Given the description of an element on the screen output the (x, y) to click on. 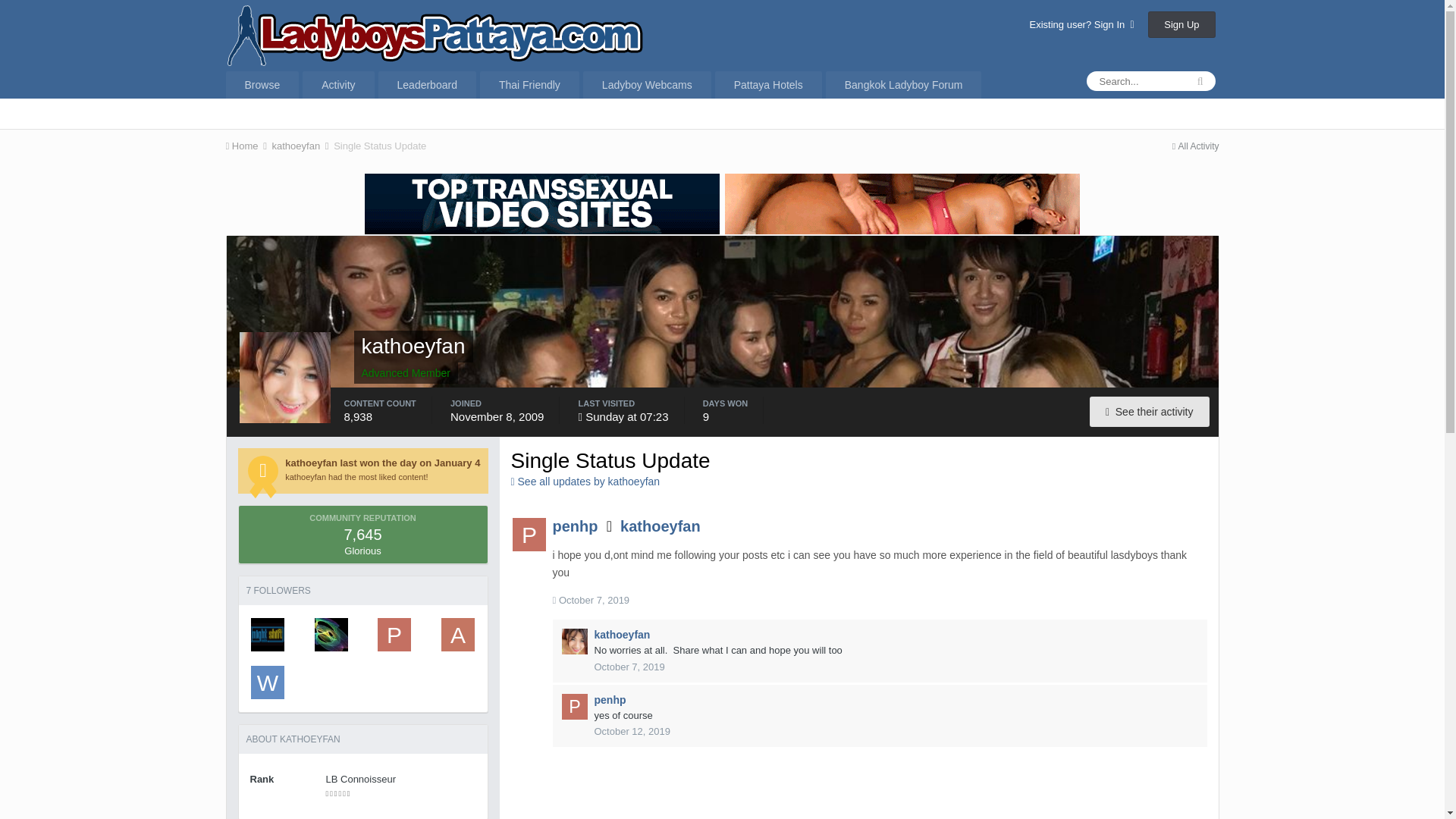
Home (247, 145)
Pattaya Hotels (768, 84)
Go to penhp's profile (393, 634)
Thai Friendly (529, 84)
Existing user? Sign In   (1081, 24)
Home (247, 145)
kathoeyfan's Content (1149, 411)
Bangkok Ladyboy Forum (903, 84)
Go to AnnaKimberly's profile (457, 634)
Ladyboy Webcams (647, 84)
Activity (338, 84)
penhp (394, 634)
Go to Podrick2's profile (330, 634)
Podrick2 (330, 634)
Night Shift Asia (267, 634)
